Given the description of an element on the screen output the (x, y) to click on. 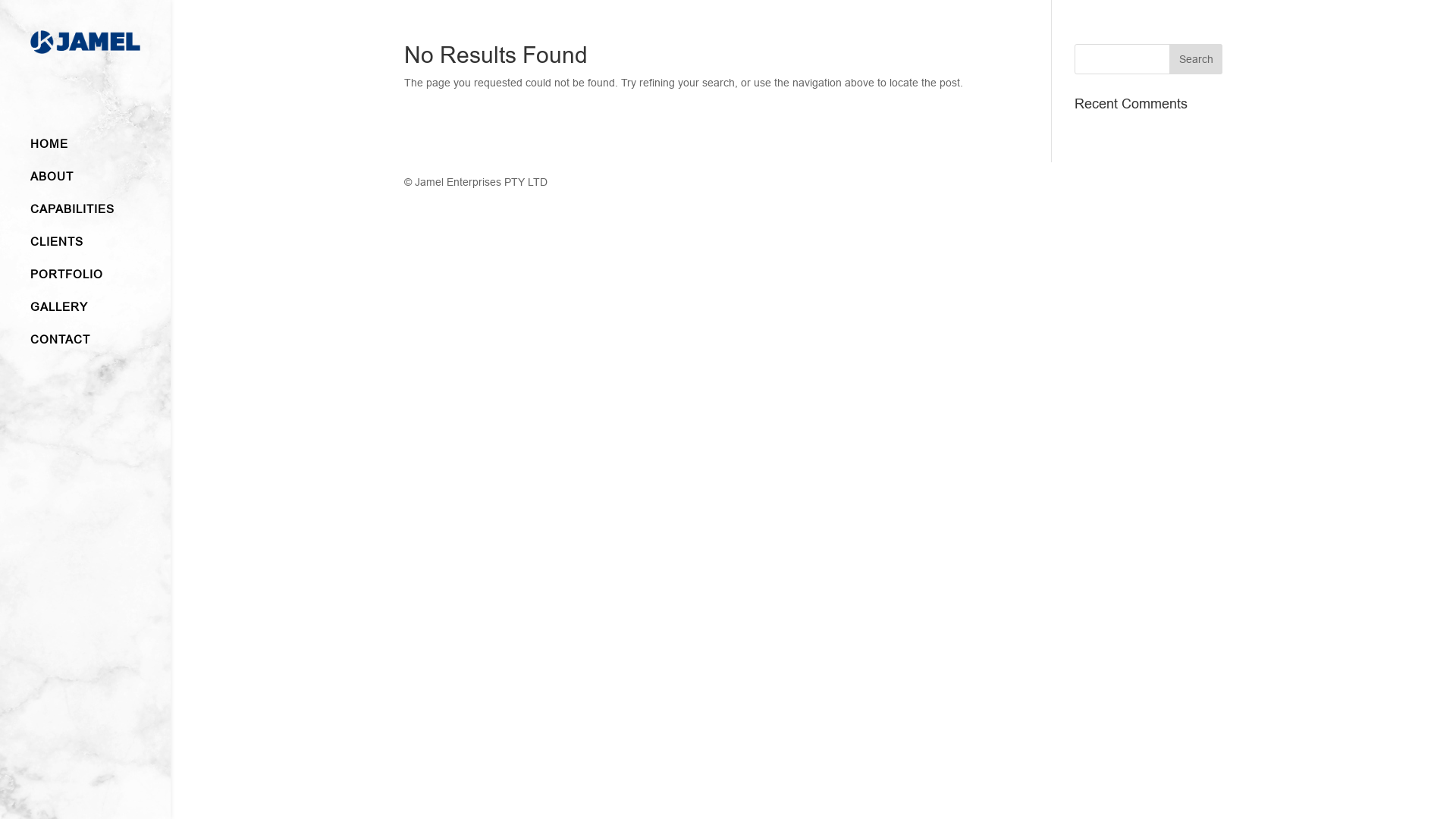
GALLERY Element type: text (100, 313)
CLIENTS Element type: text (100, 248)
ABOUT Element type: text (100, 183)
CAPABILITIES Element type: text (100, 216)
Search Element type: text (1195, 58)
HOME Element type: text (100, 150)
PORTFOLIO Element type: text (100, 281)
CONTACT Element type: text (100, 346)
